Given the description of an element on the screen output the (x, y) to click on. 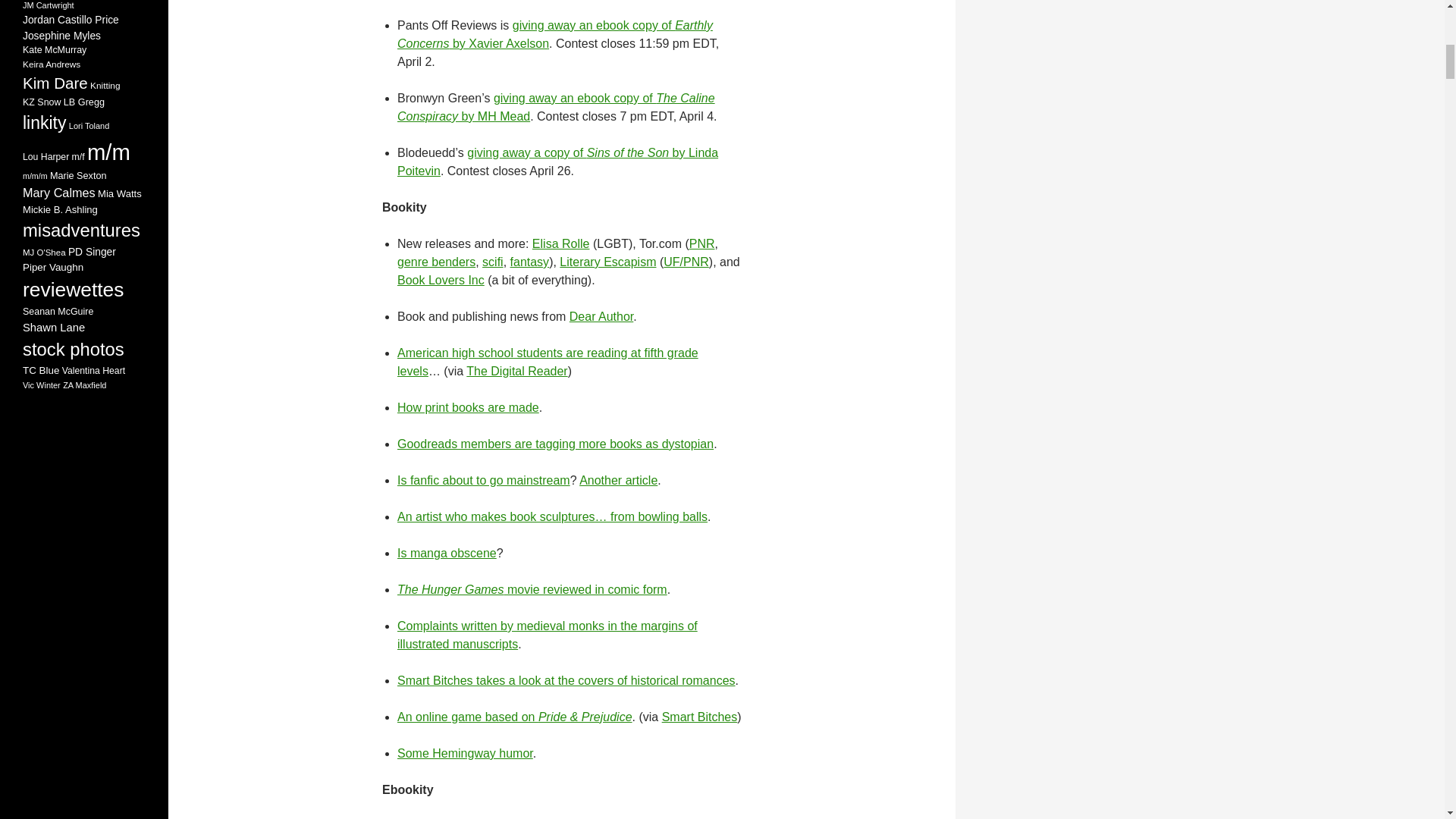
PNR (701, 243)
genre benders (436, 261)
giving away a copy of Sins of the Son by Linda Poitevin (557, 161)
Elisa Rolle (560, 243)
